Given the description of an element on the screen output the (x, y) to click on. 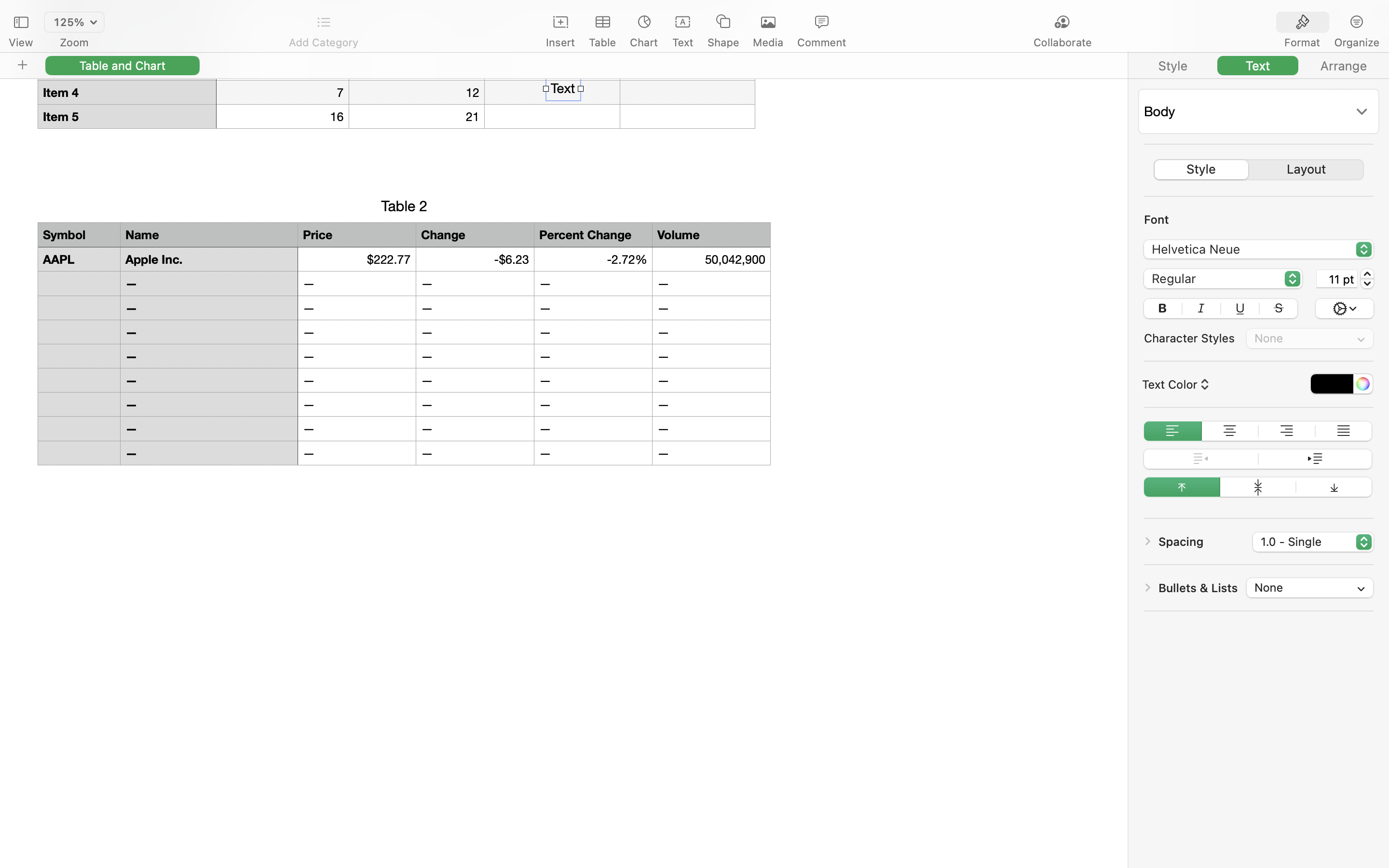
11.0 Element type: AXIncrementor (1367, 278)
Untitled Element type: AXStaticText (667, 12)
Zoom Element type: AXStaticText (73, 42)
<AXUIElement 0x16cb9f0d0> {pid=1420} Element type: AXRadioGroup (1258, 65)
Font Element type: AXStaticText (1156, 219)
